Given the description of an element on the screen output the (x, y) to click on. 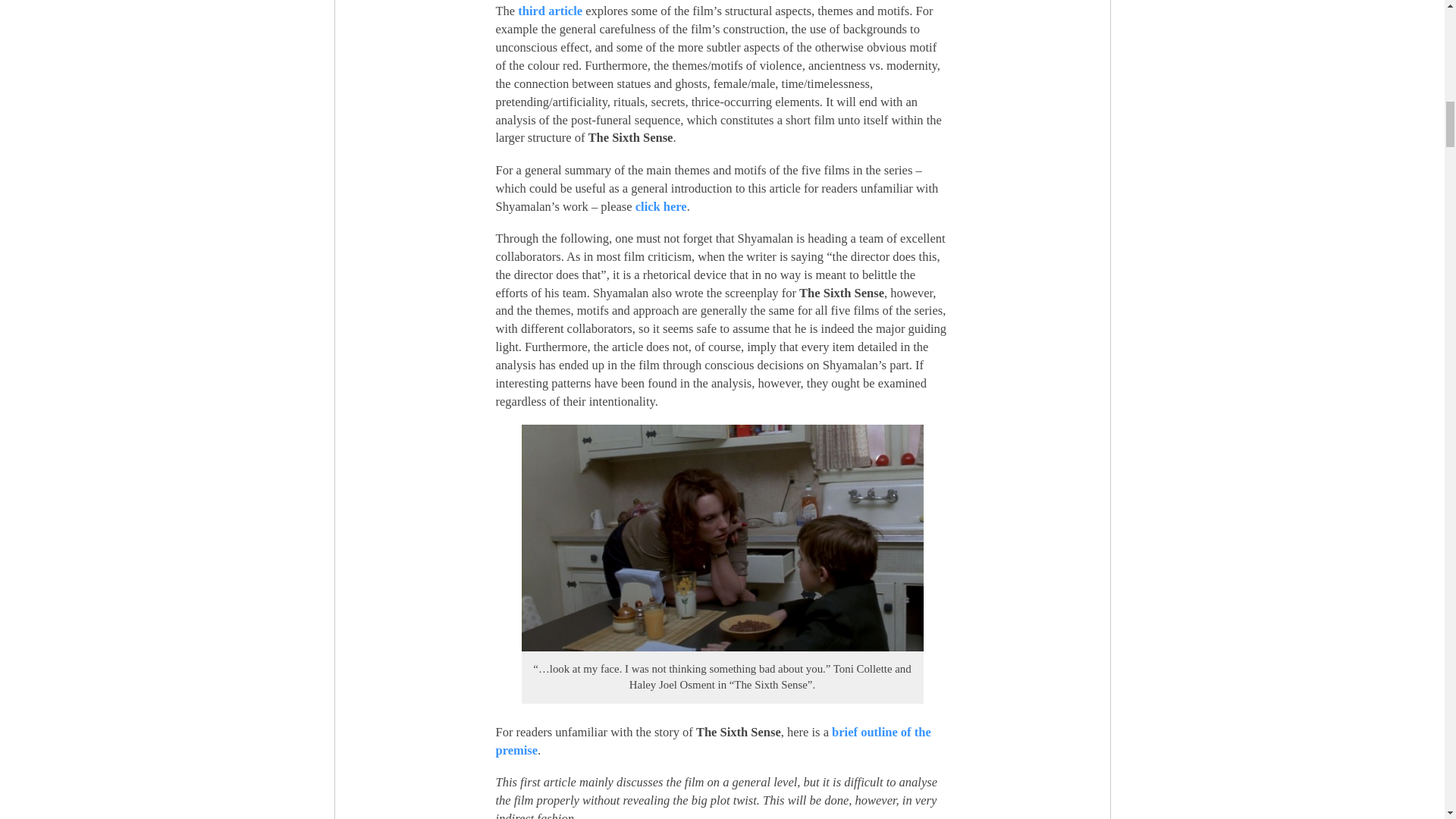
click here (660, 206)
brief outline of the premise (713, 740)
third article (550, 11)
